Given the description of an element on the screen output the (x, y) to click on. 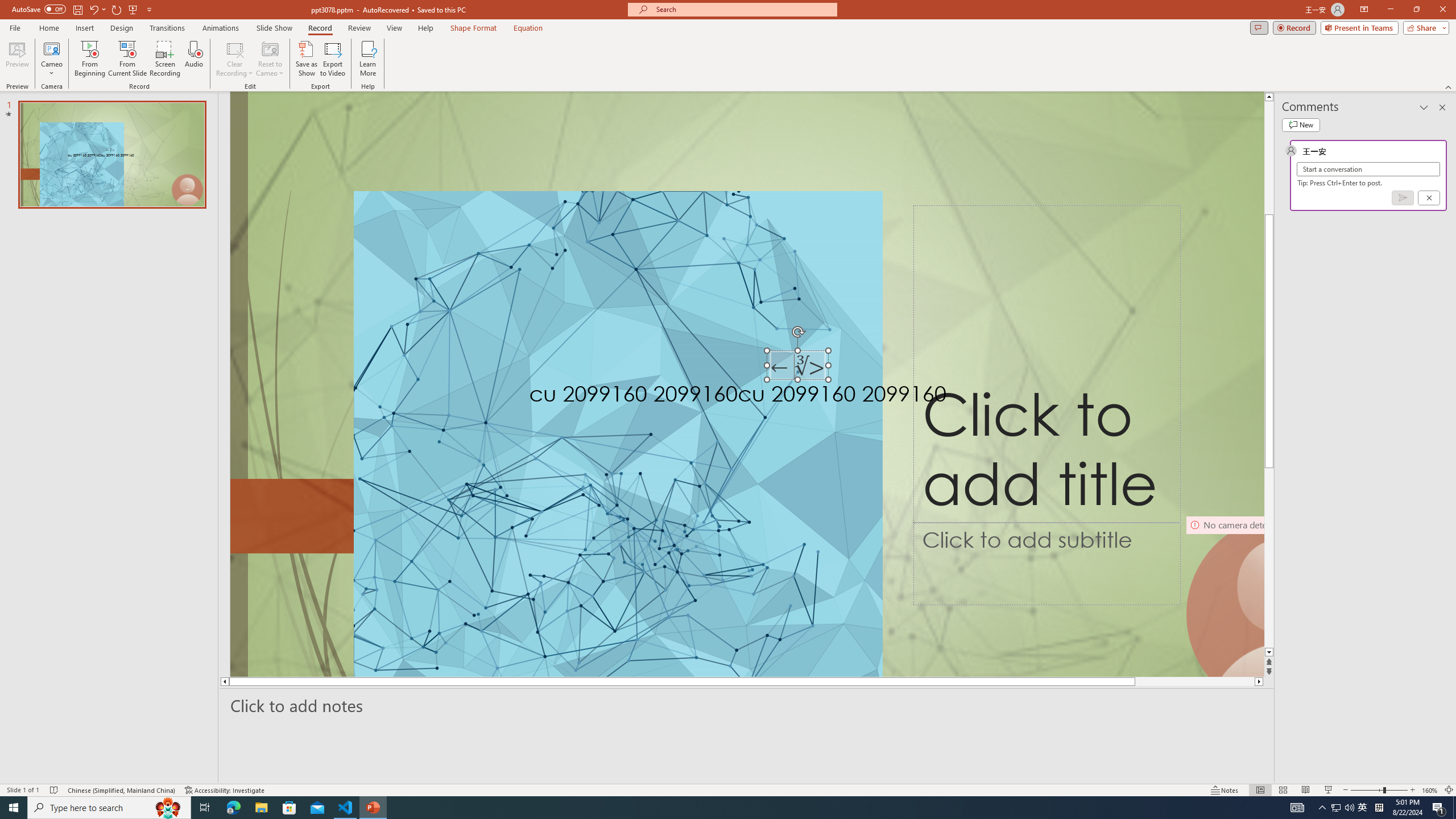
Cameo (51, 58)
Reset to Cameo (269, 58)
Line down (1268, 652)
An abstract genetic concept (746, 383)
